Given the description of an element on the screen output the (x, y) to click on. 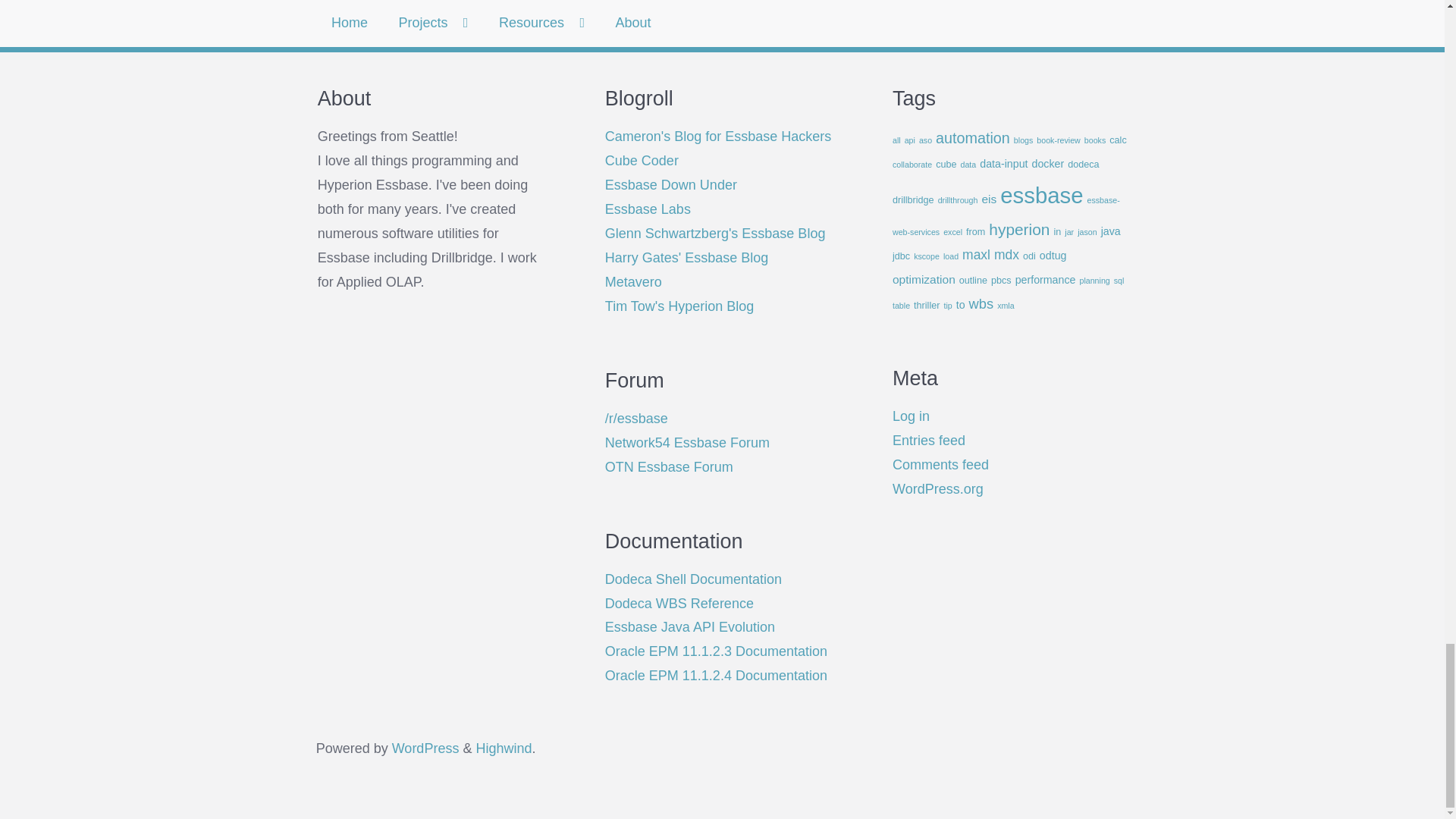
WordPress.org (425, 748)
Dodeca Shell Getting Started Guide (693, 579)
The Essbase Subreddit! (636, 418)
Highwind - Customisable and extendable WordPress theme (503, 748)
Oracle Essbase Forum (669, 467)
Dodeca Workbook Script Reference (679, 603)
Documentation for Oracle EPM version 11.1.2.4 (716, 675)
Cameron Lackpour (718, 136)
